Given the description of an element on the screen output the (x, y) to click on. 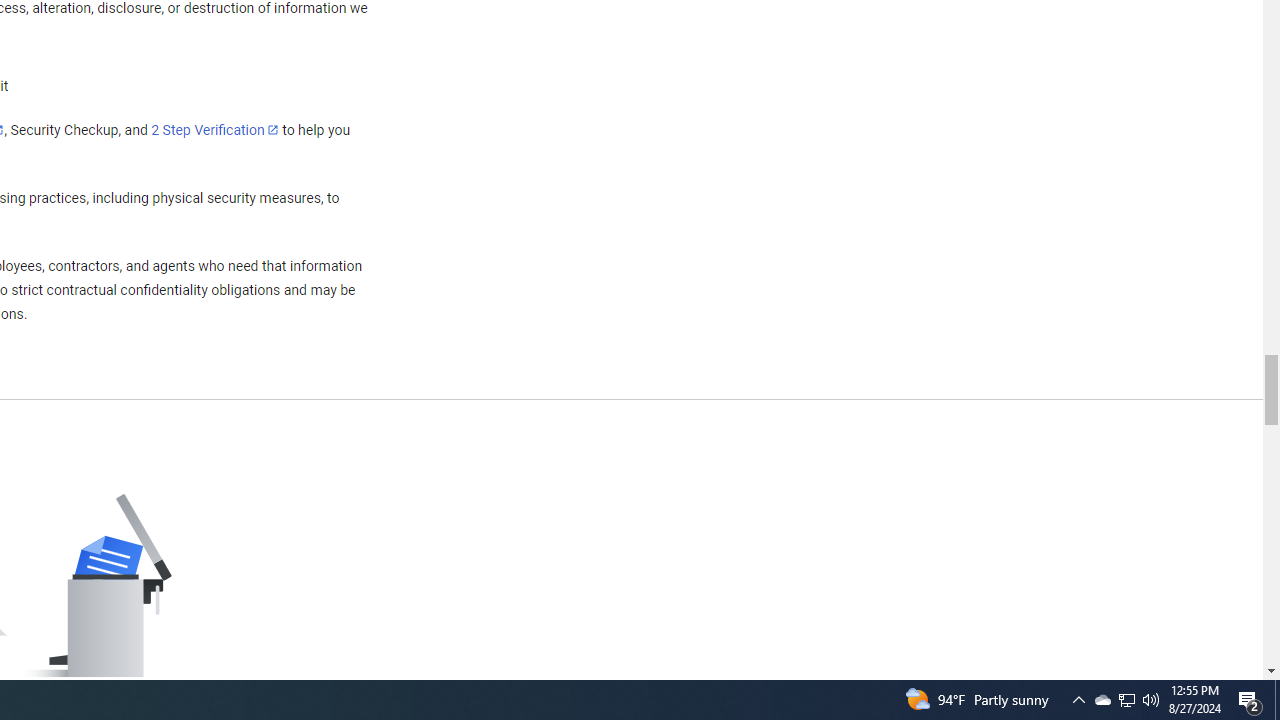
2 Step Verification (215, 129)
